Given the description of an element on the screen output the (x, y) to click on. 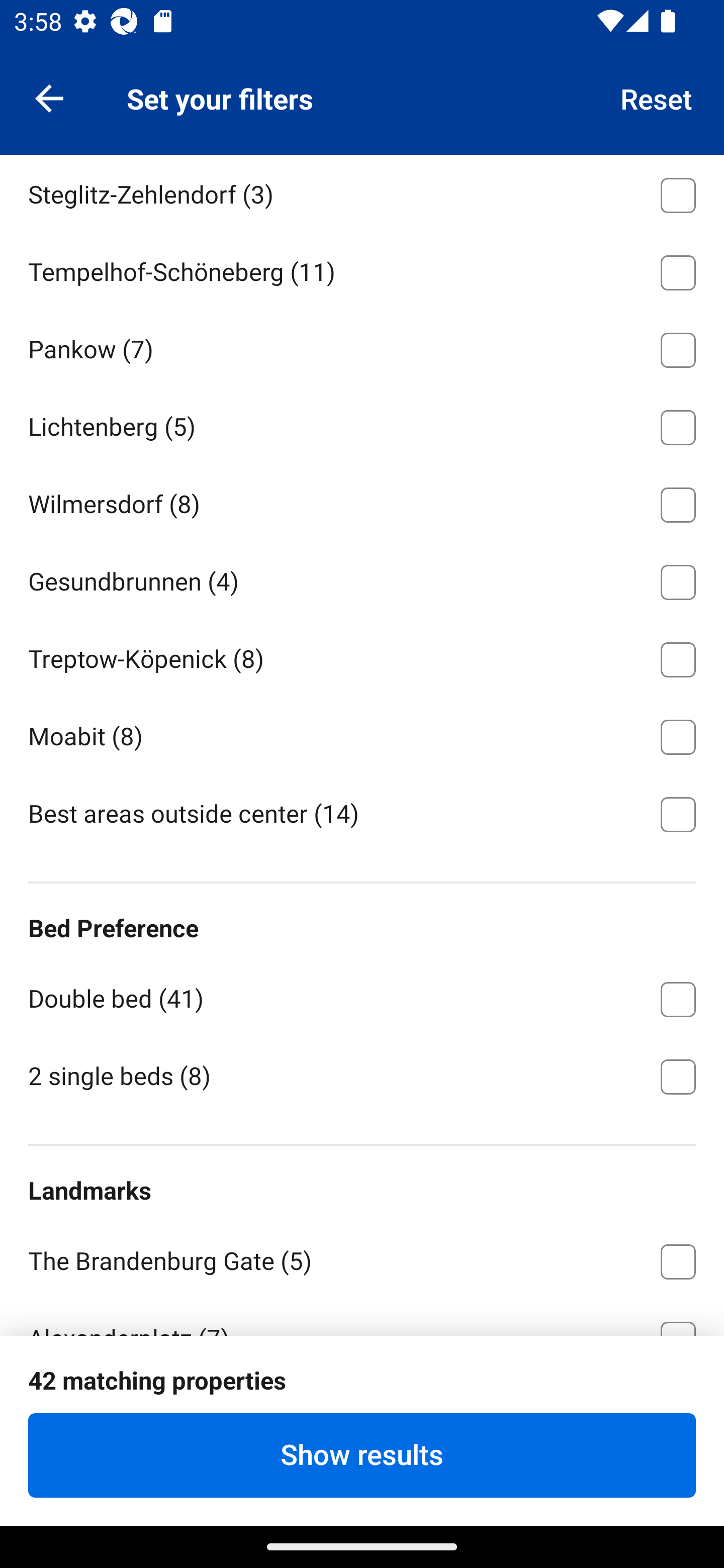
Navigate up (49, 97)
Reset (656, 97)
West Berlin Center ⁦(10) (361, 114)
Steglitz-Zehlendorf ⁦(3) (361, 192)
Tempelhof-Schöneberg ⁦(11) (361, 268)
Pankow ⁦(7) (361, 346)
Lichtenberg ⁦(5) (361, 423)
Wilmersdorf ⁦(8) (361, 501)
Gesundbrunnen ⁦(4) (361, 578)
Treptow-Köpenick ⁦(8) (361, 655)
Moabit ⁦(8) (361, 733)
Best areas outside center ⁦(14) (361, 812)
Double bed ⁦(41) (361, 996)
2 single beds ⁦(8) (361, 1075)
The Brandenburg Gate ⁦(5) (361, 1257)
Show results (361, 1454)
